Given the description of an element on the screen output the (x, y) to click on. 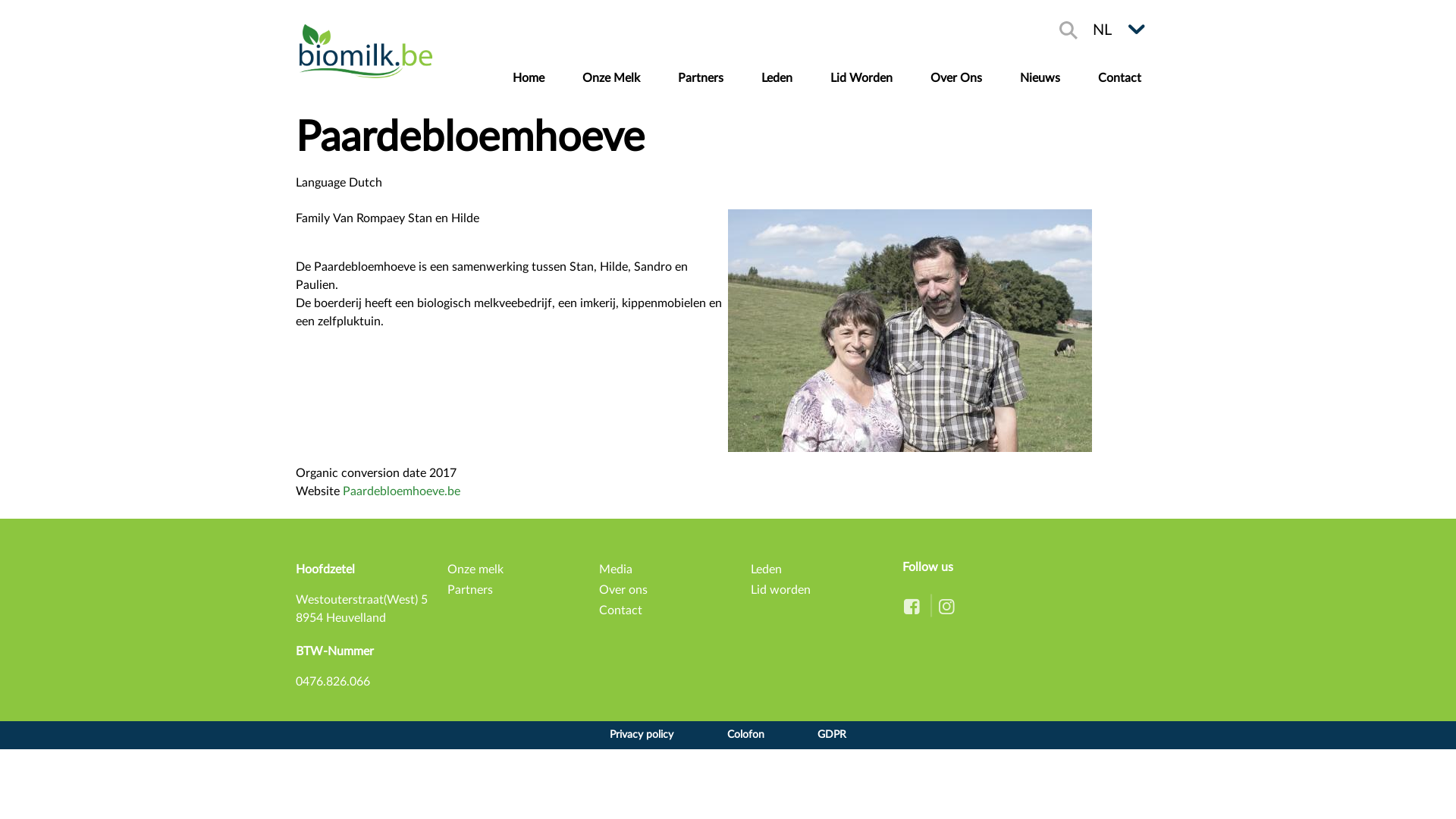
Nieuws Element type: text (1040, 77)
Lid worden Element type: text (780, 589)
Partners Element type: text (469, 589)
Lid Worden Element type: text (861, 77)
Leden Element type: text (776, 77)
Skip to main content Element type: text (727, 1)
Skip to the home page Element type: hover (365, 50)
Leden Element type: text (765, 569)
Over Ons Element type: text (956, 77)
Paardebloemhoeve.be Element type: text (401, 491)
Over ons Element type: text (623, 589)
Contact Element type: text (620, 610)
Onze Melk Element type: text (610, 77)
GDPR Element type: text (831, 735)
Colofon Element type: text (744, 735)
Contact Element type: text (1119, 77)
Home Element type: text (528, 77)
Search Element type: text (1068, 30)
Media Element type: text (615, 569)
Privacy policy Element type: text (641, 735)
Partners Element type: text (700, 77)
Onze melk Element type: text (475, 569)
